Given the description of an element on the screen output the (x, y) to click on. 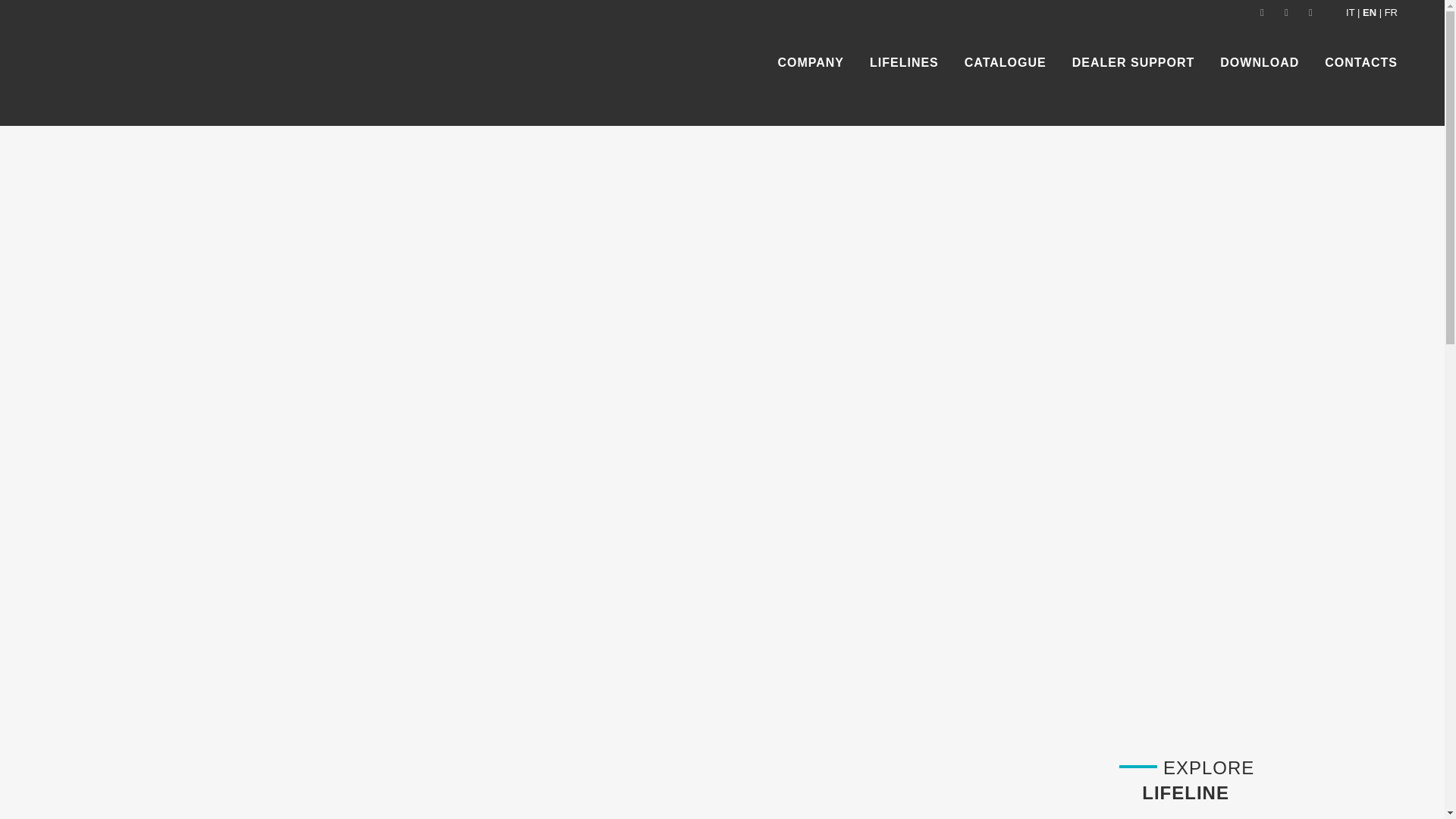
EN (1368, 12)
FR (1390, 12)
CATALOGUE (1005, 62)
COMPANY (810, 62)
LIFELINES (904, 62)
